Given the description of an element on the screen output the (x, y) to click on. 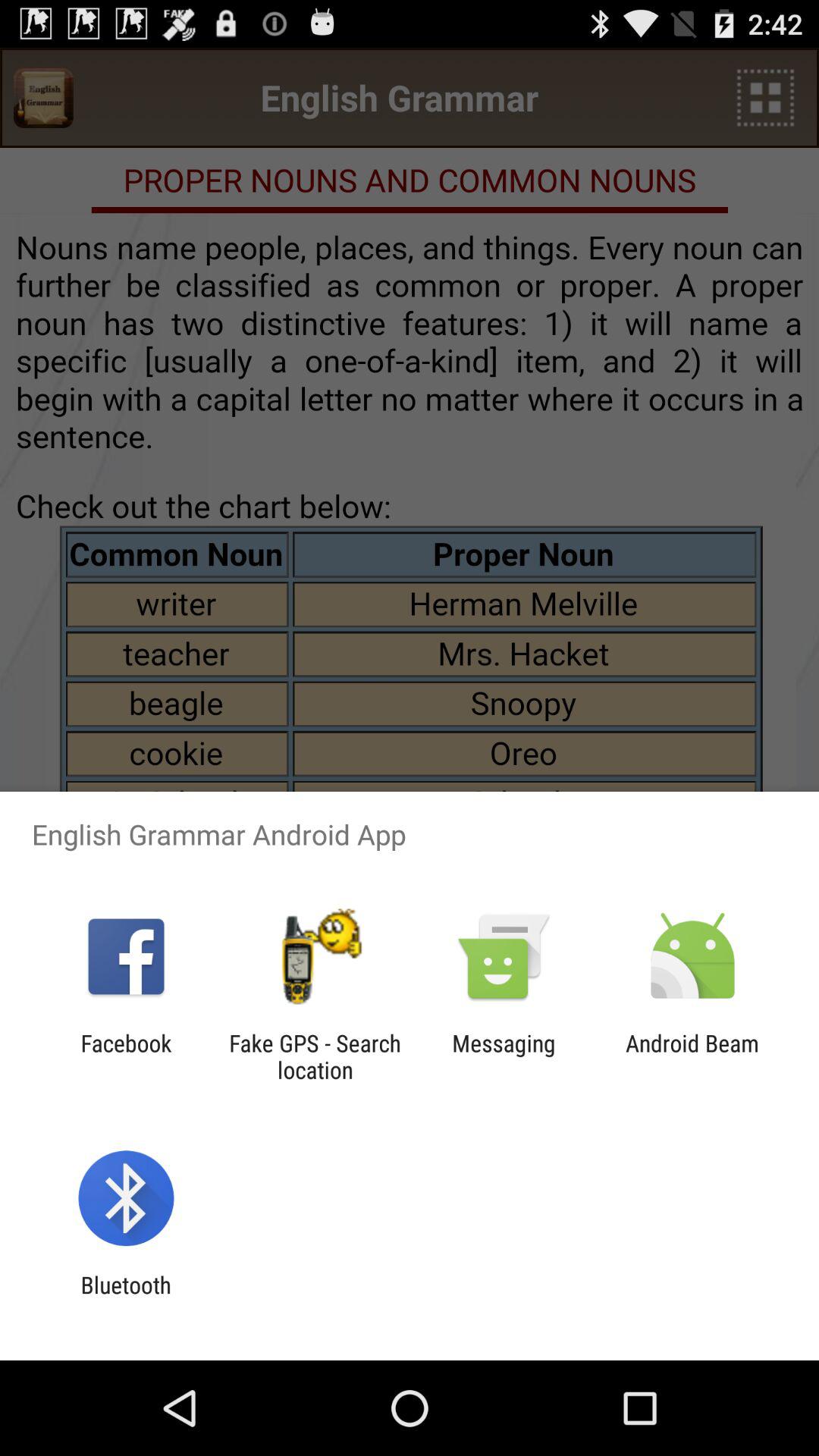
launch app to the right of the messaging item (692, 1056)
